Given the description of an element on the screen output the (x, y) to click on. 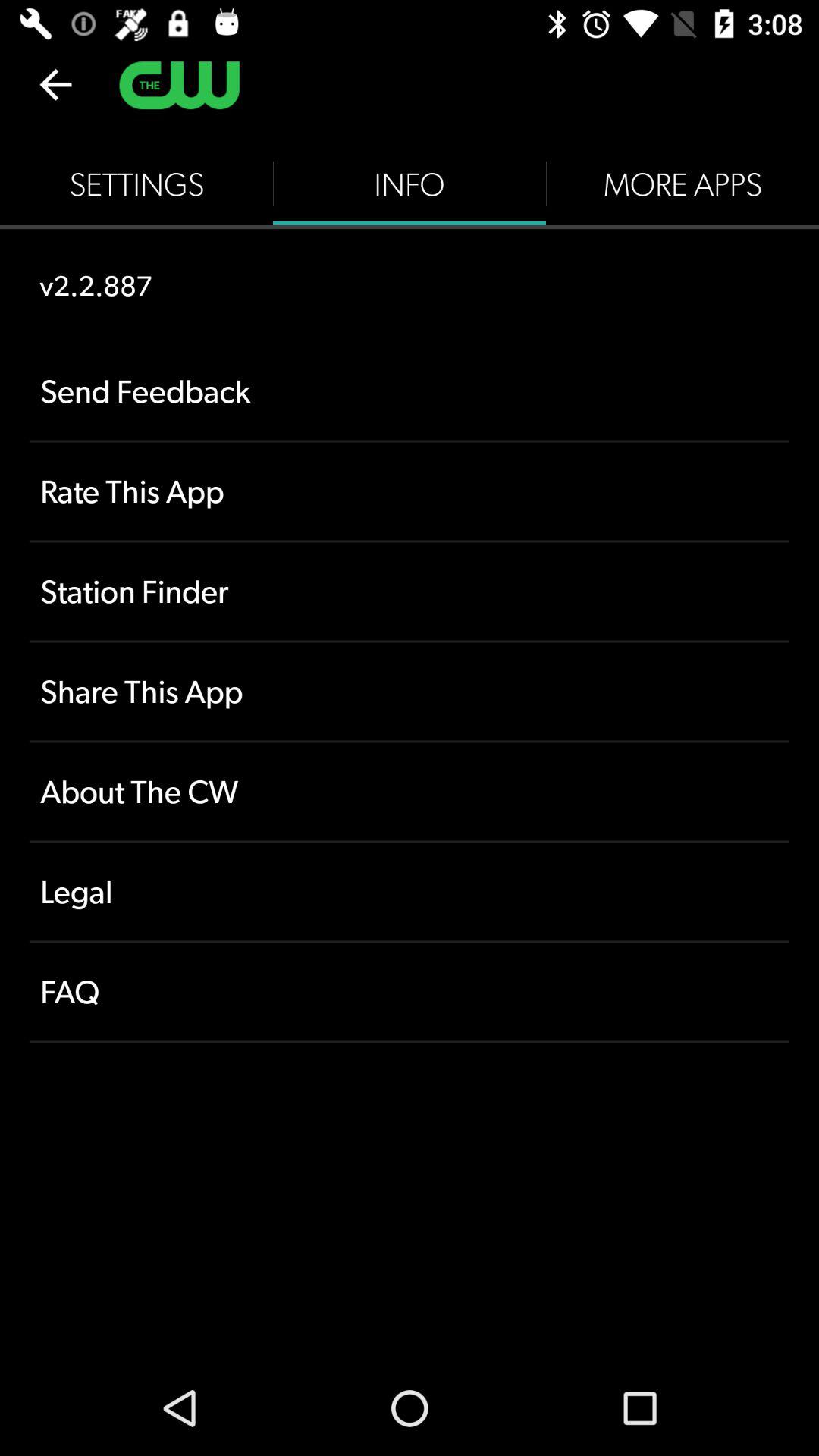
select the item below v2.2.887 icon (409, 391)
